Given the description of an element on the screen output the (x, y) to click on. 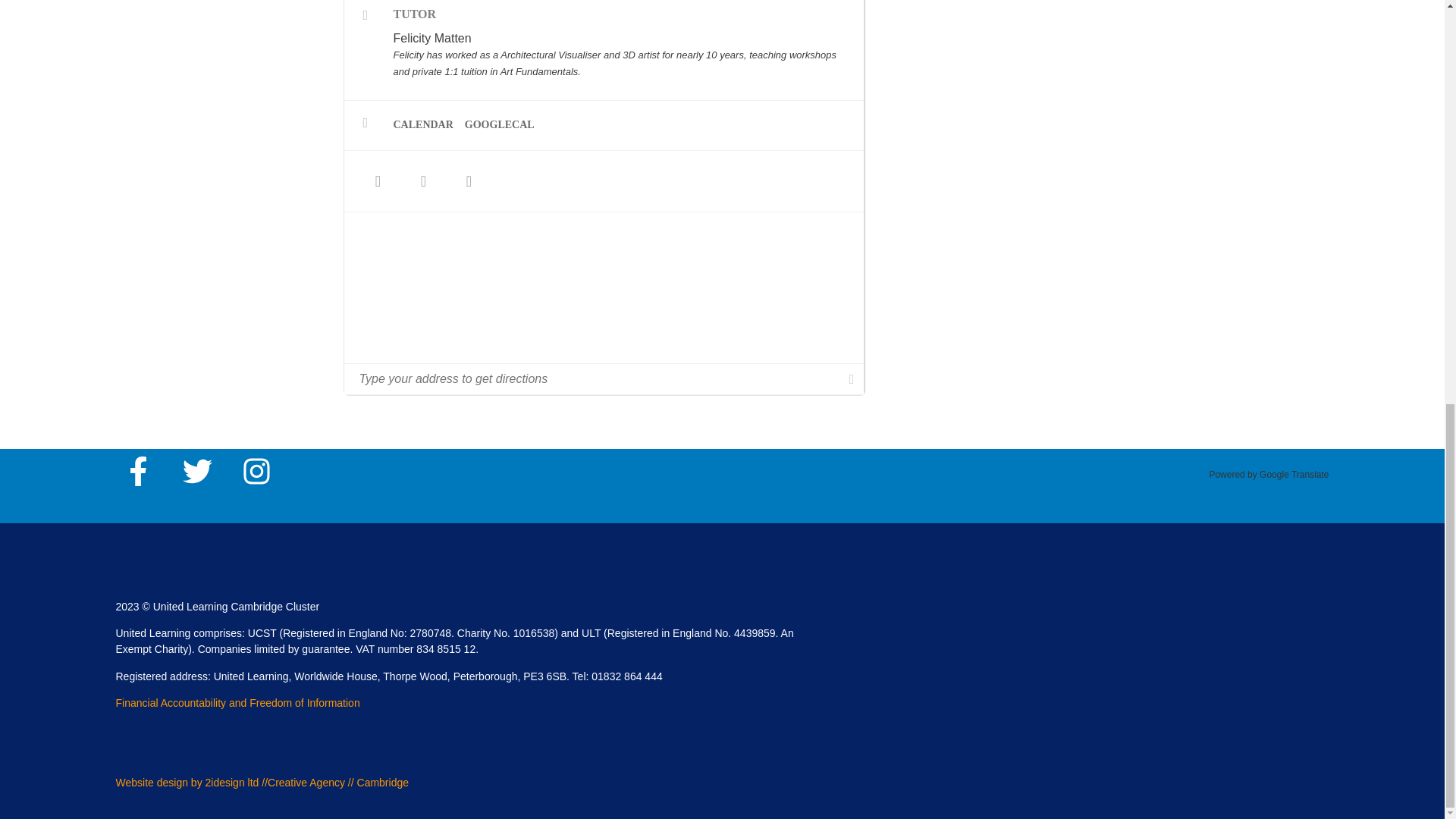
Share on facebook (378, 180)
CALENDAR (428, 124)
Share on Twitter (423, 180)
Add to google calendar (505, 124)
GOOGLECAL (505, 124)
Add to your calendar (428, 124)
